Given the description of an element on the screen output the (x, y) to click on. 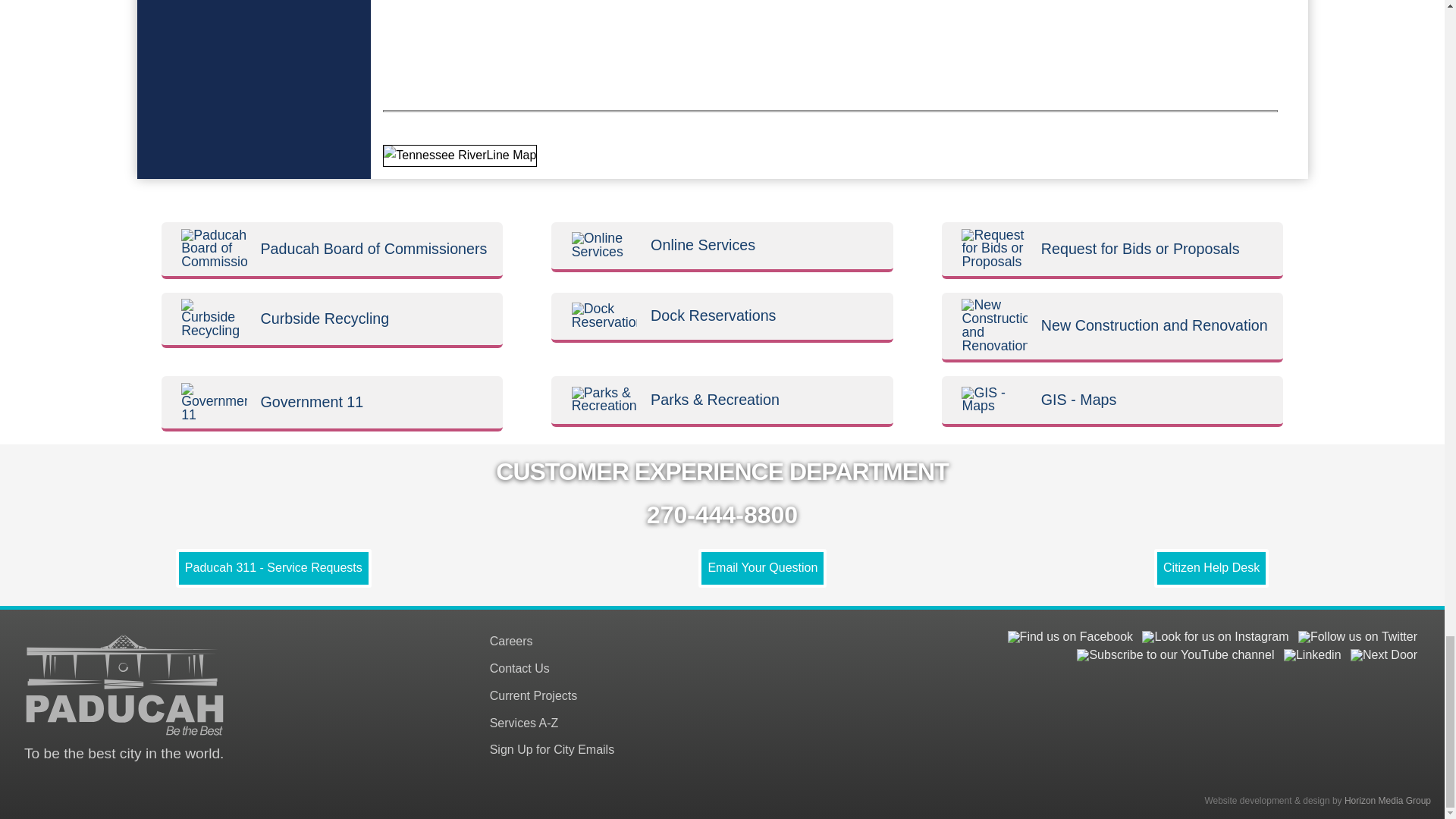
Online Services (604, 245)
Subscribe to our YouTube channel (1175, 654)
New Construction and Renovation (993, 325)
GIS - Maps (993, 400)
Paducah Board of Commissioners (213, 249)
Next Door (1383, 654)
Request for Bids or Proposals (993, 249)
Dock Reservations (604, 316)
Government 11 (213, 402)
Find us on Facebook (1069, 636)
Linkedin (1312, 654)
Curbside Recycling (213, 318)
Follow us on Twitter (1357, 636)
Look for us on Instagram (1214, 636)
